Given the description of an element on the screen output the (x, y) to click on. 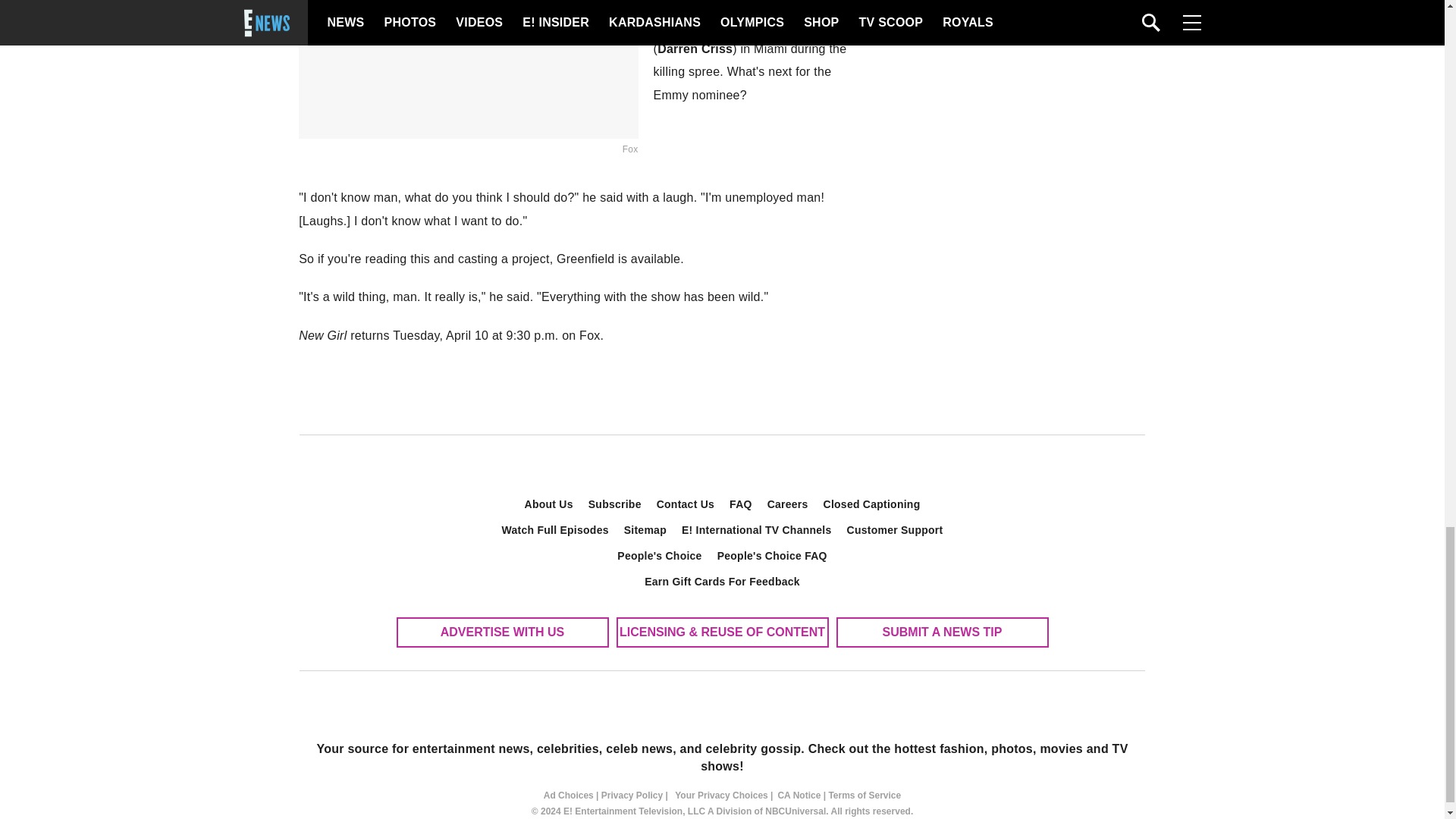
FAQ (741, 503)
About Us (548, 503)
Subscribe (614, 503)
Contact Us (685, 503)
